Given the description of an element on the screen output the (x, y) to click on. 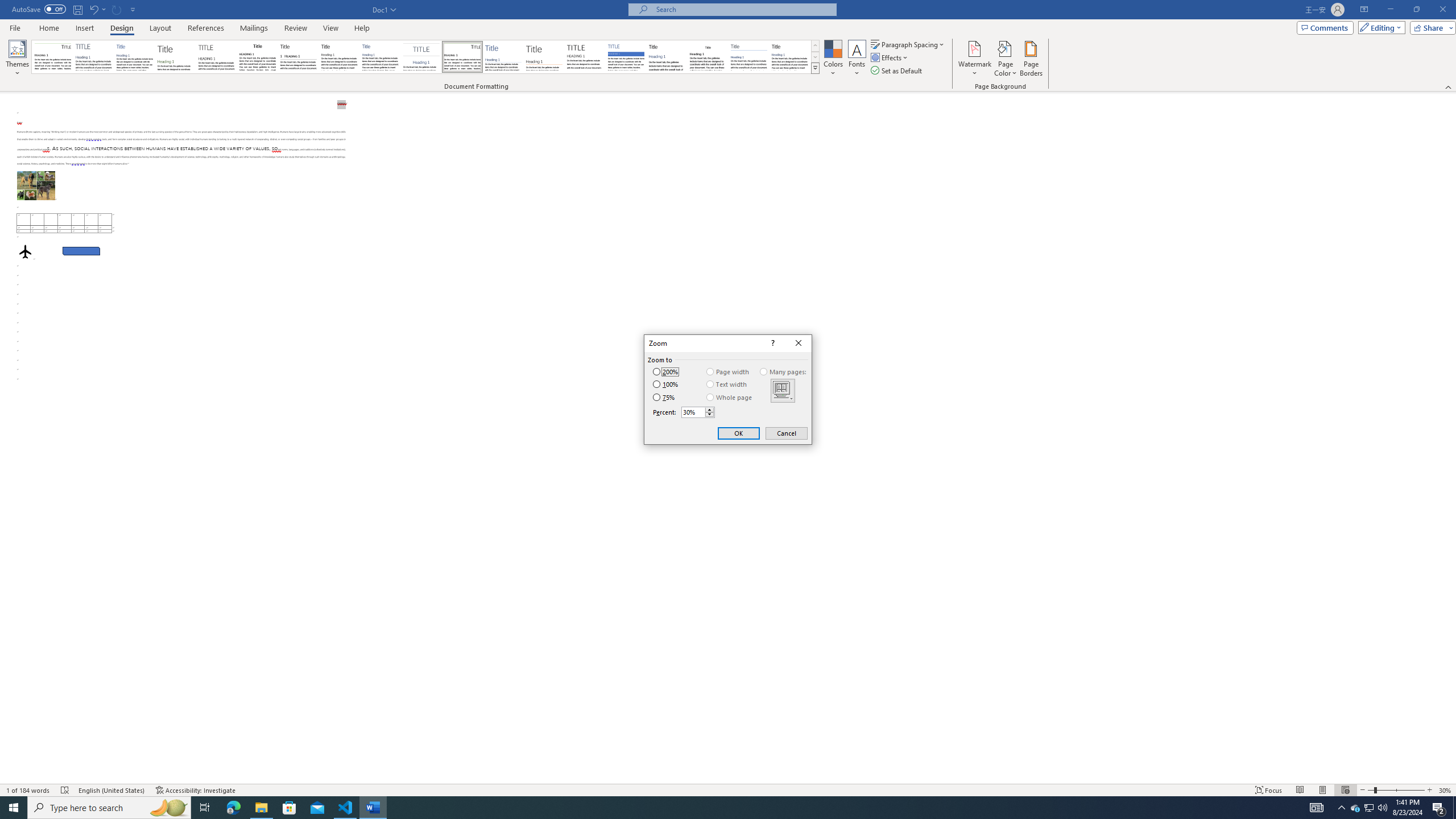
Airplane with solid fill (25, 251)
Cancel (786, 433)
Basic (Simple) (135, 56)
Undo Apply Quick Style Set (96, 9)
Multiple Pages (782, 390)
Effects (890, 56)
Lines (Stylish) (544, 56)
